Given the description of an element on the screen output the (x, y) to click on. 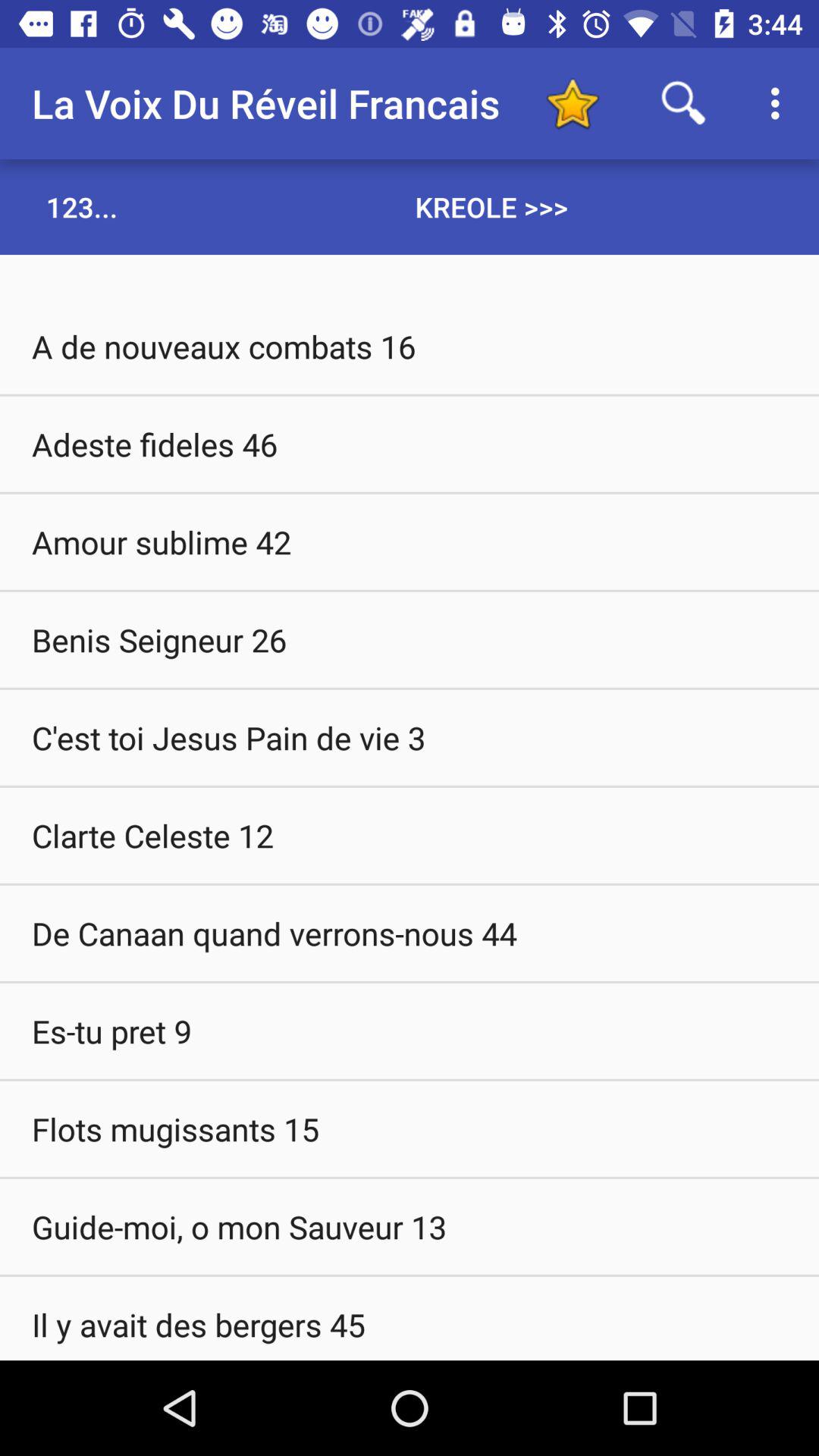
tap a de nouveaux icon (409, 346)
